Given the description of an element on the screen output the (x, y) to click on. 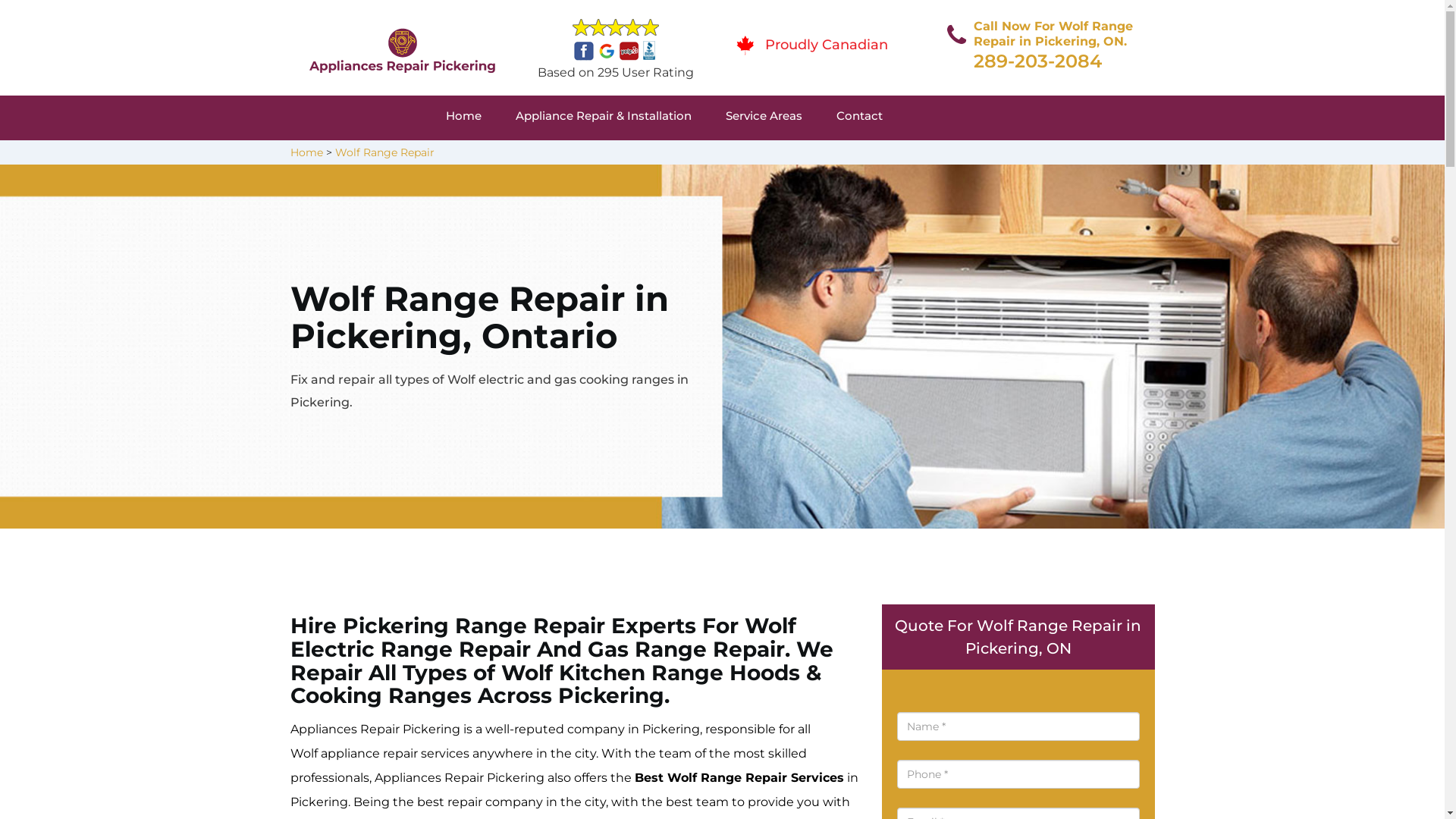
Washing Machine Installation Element type: text (844, 154)
Freezer Installation Element type: text (1069, 154)
Microwave Repair Element type: text (823, 154)
Service Areas Element type: text (780, 117)
Gas Stove Repair Element type: text (815, 154)
Home Element type: text (480, 117)
Refrigerator Installation Element type: text (1087, 154)
Microwave Installation Element type: text (825, 154)
Range Repair Element type: text (562, 154)
Residential Appliance Repair Element type: text (610, 154)
Dishwasher Repair Element type: text (559, 154)
Dryer Repair Element type: text (553, 154)
Residential Appliance Installation Element type: text (1099, 154)
Stove Repair Element type: text (564, 154)
289-203-2084 Element type: text (1037, 61)
Refrigerator Repair Element type: text (829, 154)
Dryer Installation Element type: text (1070, 154)
Kitchen Appliances Repair Element type: text (593, 154)
Oven Element Installation Element type: text (1085, 154)
Home Element type: text (305, 152)
Range Installation Element type: text (1068, 154)
Kitchen Appliance Installation Element type: text (1091, 154)
Stove Installation Element type: text (1056, 154)
Appliances Installation Element type: text (828, 154)
Oven Installation Element type: text (1060, 154)
Gas Stove Installation Element type: text (817, 154)
Washing Machine Repair Element type: text (593, 154)
Oven Elements Replacement Element type: text (598, 154)
Wolf Range Repair Element type: text (384, 152)
Commercial Appliances Installation Element type: text (869, 154)
Oven Repair Element type: text (804, 154)
Commercial Appliances Repair Element type: text (597, 154)
Appliance Repair & Installation Element type: text (620, 117)
Freezer Repair Element type: text (553, 154)
Contact Element type: text (876, 117)
Dishwasher Installation Element type: text (819, 154)
